Given the description of an element on the screen output the (x, y) to click on. 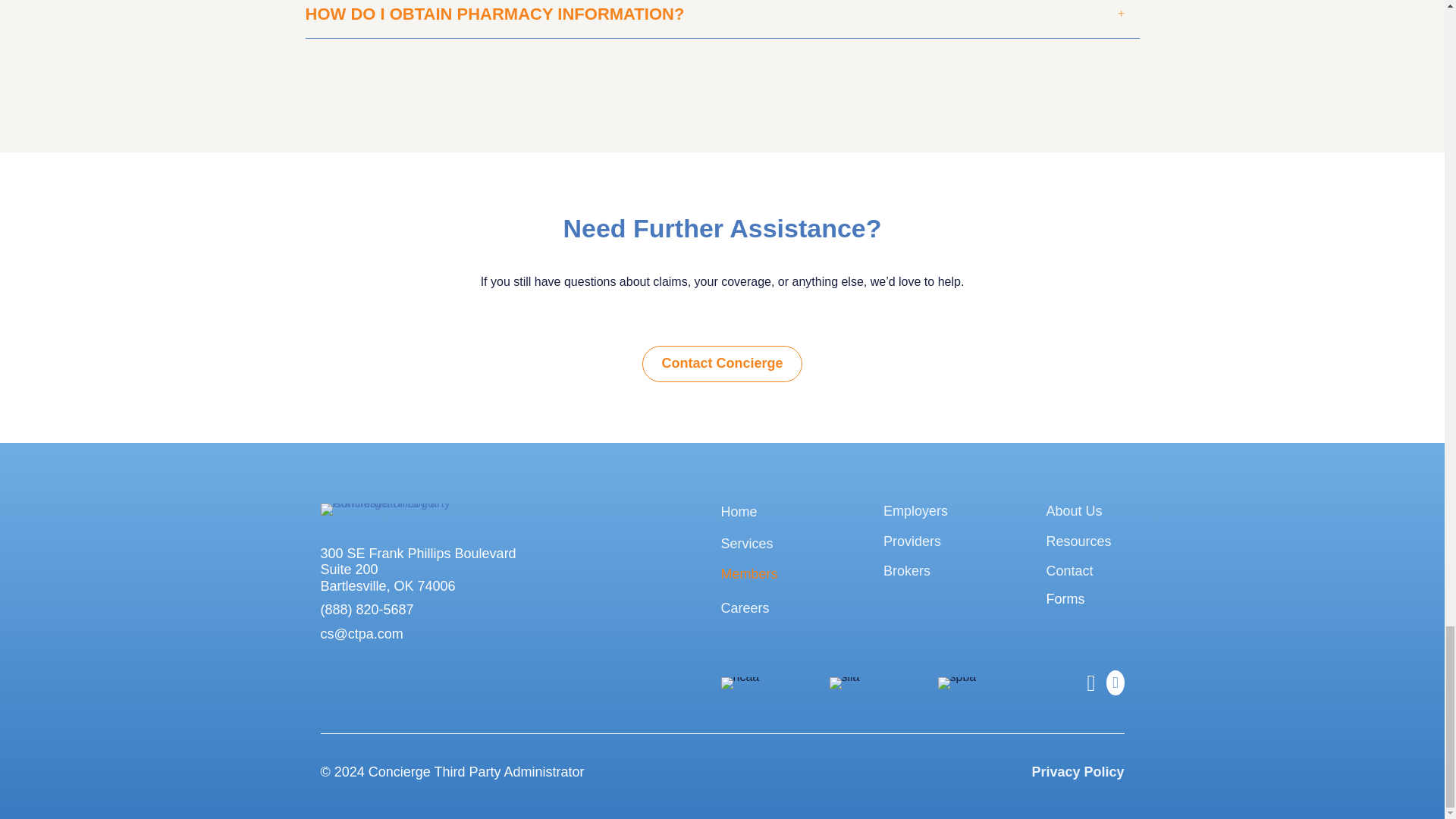
hcaa (739, 683)
Horizontal-KO (420, 509)
Contact Concierge (722, 363)
spba (956, 683)
siia (844, 683)
